Given the description of an element on the screen output the (x, y) to click on. 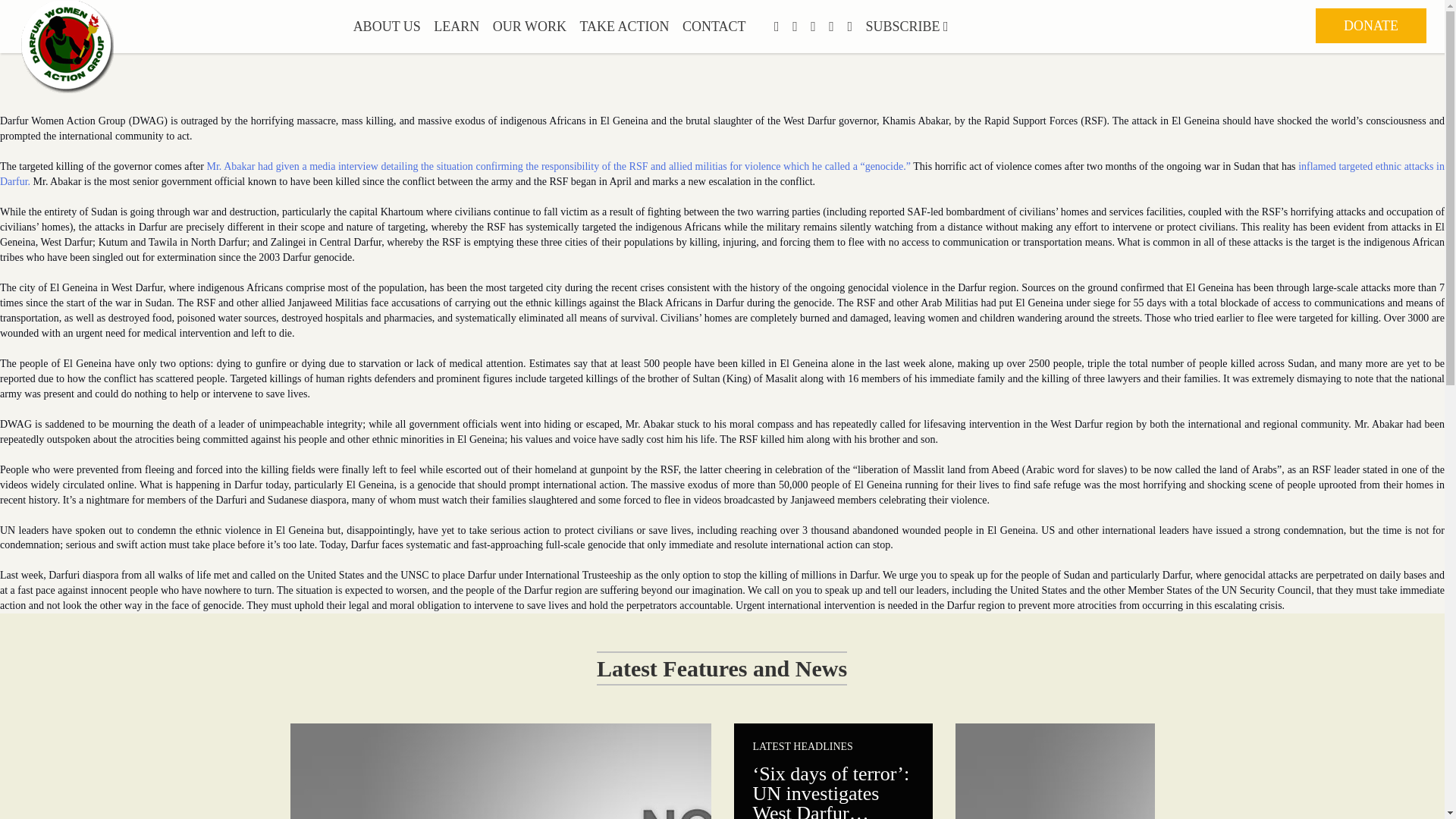
CONTACT (714, 26)
TAKE ACTION (623, 26)
OUR WORK (529, 26)
SUBSCRIBE (906, 26)
LEARN (456, 26)
ABOUT US (386, 26)
